Given the description of an element on the screen output the (x, y) to click on. 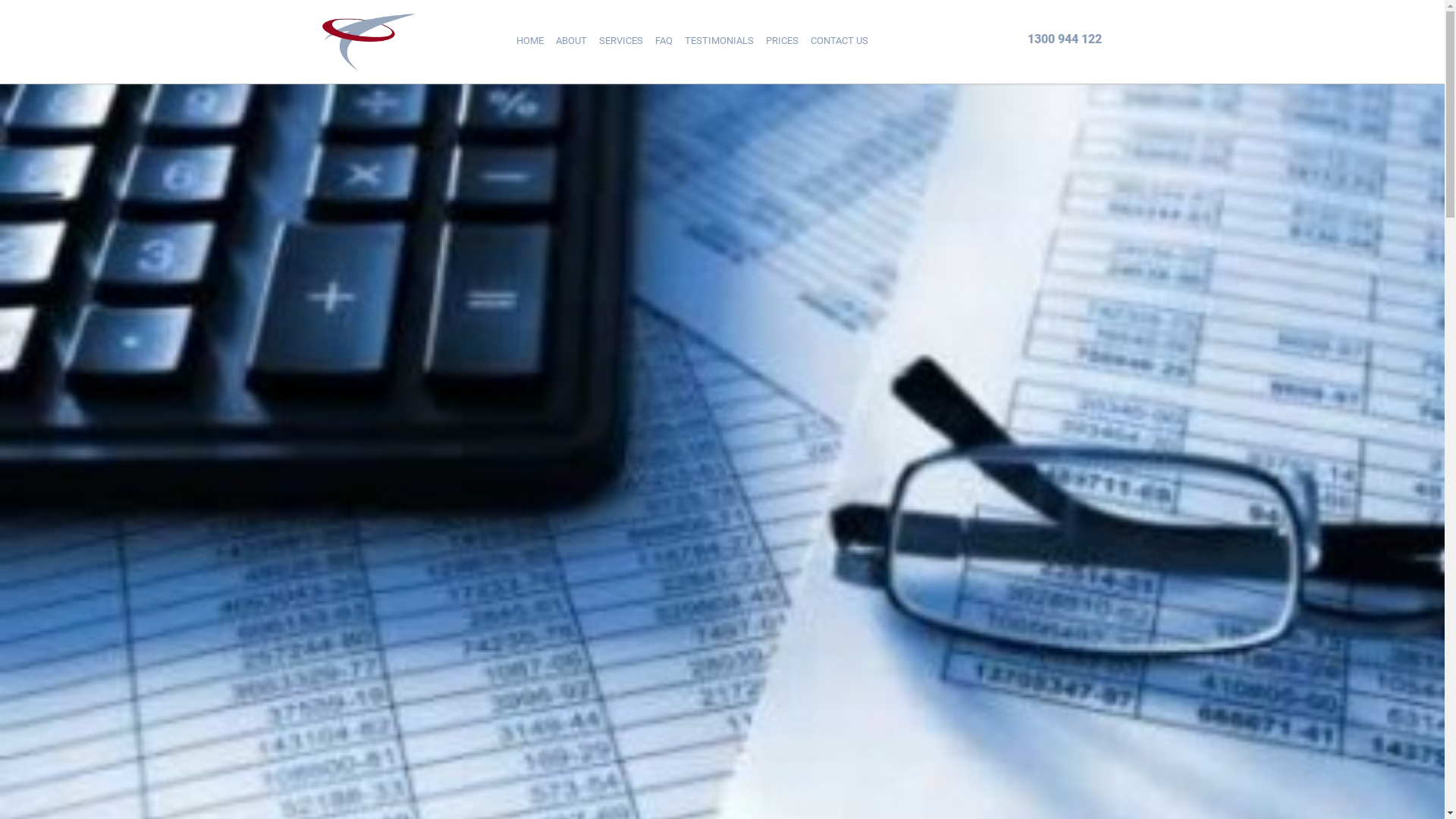
Estimate Element type: text (941, 31)
ABOUT Element type: text (570, 40)
TESTIMONIALS Element type: text (718, 40)
HOME Element type: text (529, 40)
PRICES Element type: text (781, 40)
FAQ Element type: text (663, 40)
SERVICES Element type: text (621, 40)
Estimating Australia Element type: text (369, 41)
CONTACT US Element type: text (838, 40)
1300 944 122 Element type: text (1063, 41)
